Given the description of an element on the screen output the (x, y) to click on. 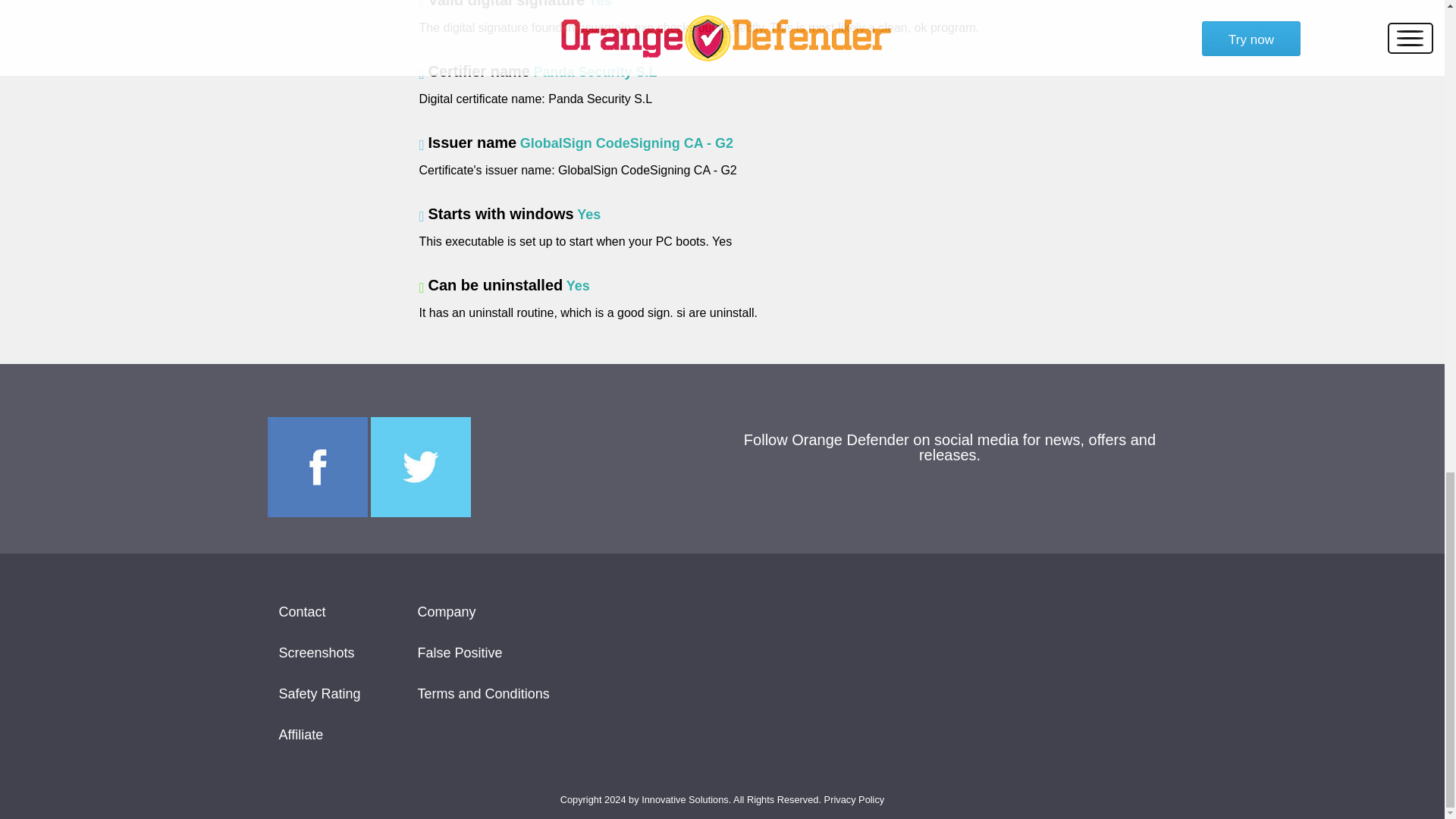
Affiliate (320, 734)
Screenshots (320, 652)
Innovative Solutions (685, 799)
Company (483, 611)
False Positive (483, 652)
Terms and Conditions (483, 693)
Contact (320, 611)
Safety Rating (320, 693)
Privacy Policy (854, 799)
